Given the description of an element on the screen output the (x, y) to click on. 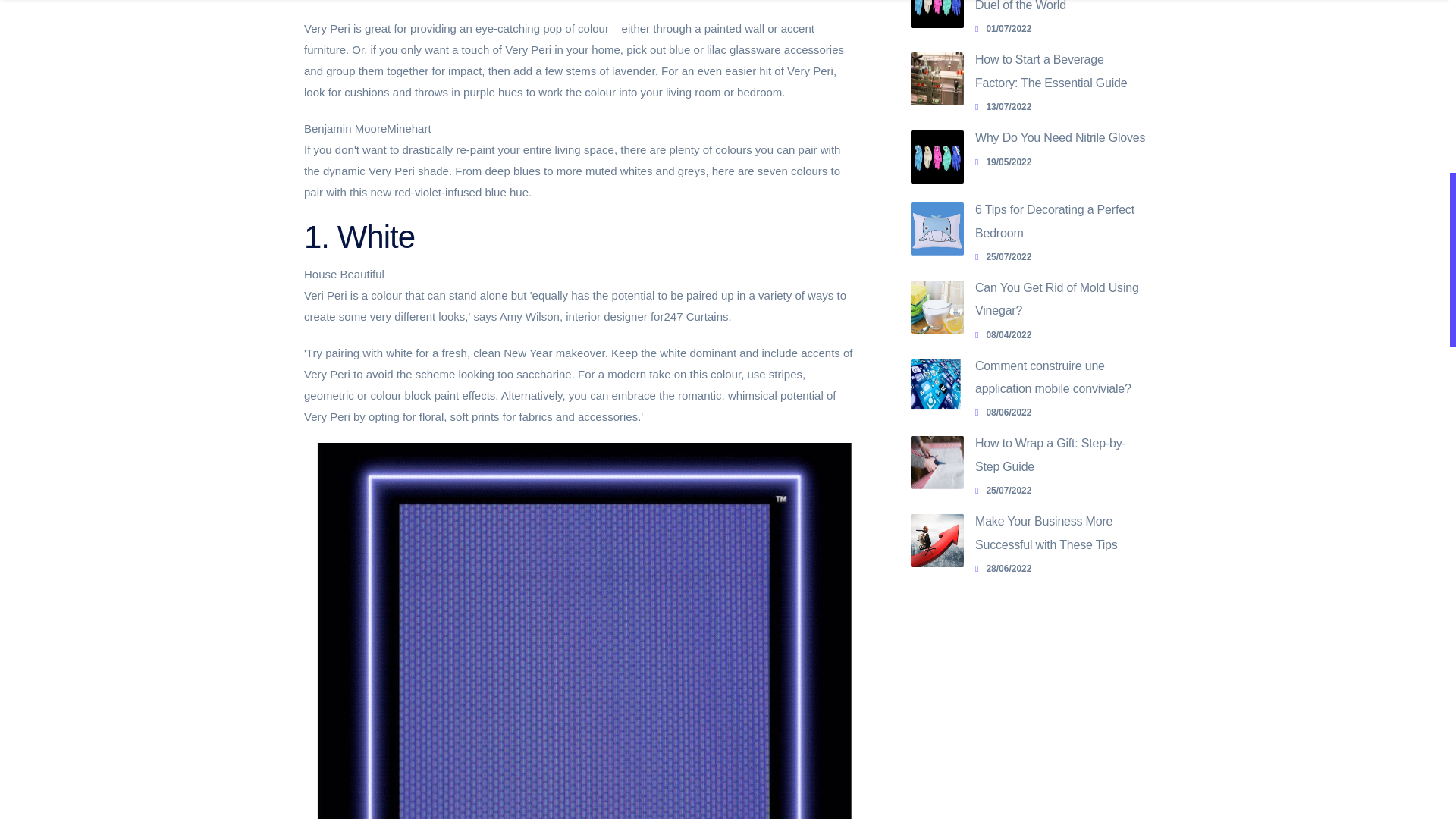
6 Tips for Decorating a Perfect Bedroom (1054, 221)
How to Start a Beverage Factory: The Essential Guide (1050, 70)
How to Start a Beverage Factory: The Essential Guide (1050, 70)
Pick your Gloves to Accept the Duel of the World (1055, 5)
Pick your Gloves to Accept the Duel of the World (1060, 28)
How to Start a Beverage Factory: The Essential Guide (937, 78)
Can You Get Rid of Mold Using Vinegar? (1056, 298)
Pick your Gloves to Accept the Duel of the World (937, 13)
Pick your Gloves to Accept the Duel of the World (1055, 5)
Why Do You Need Nitrile Gloves (1059, 137)
